Given the description of an element on the screen output the (x, y) to click on. 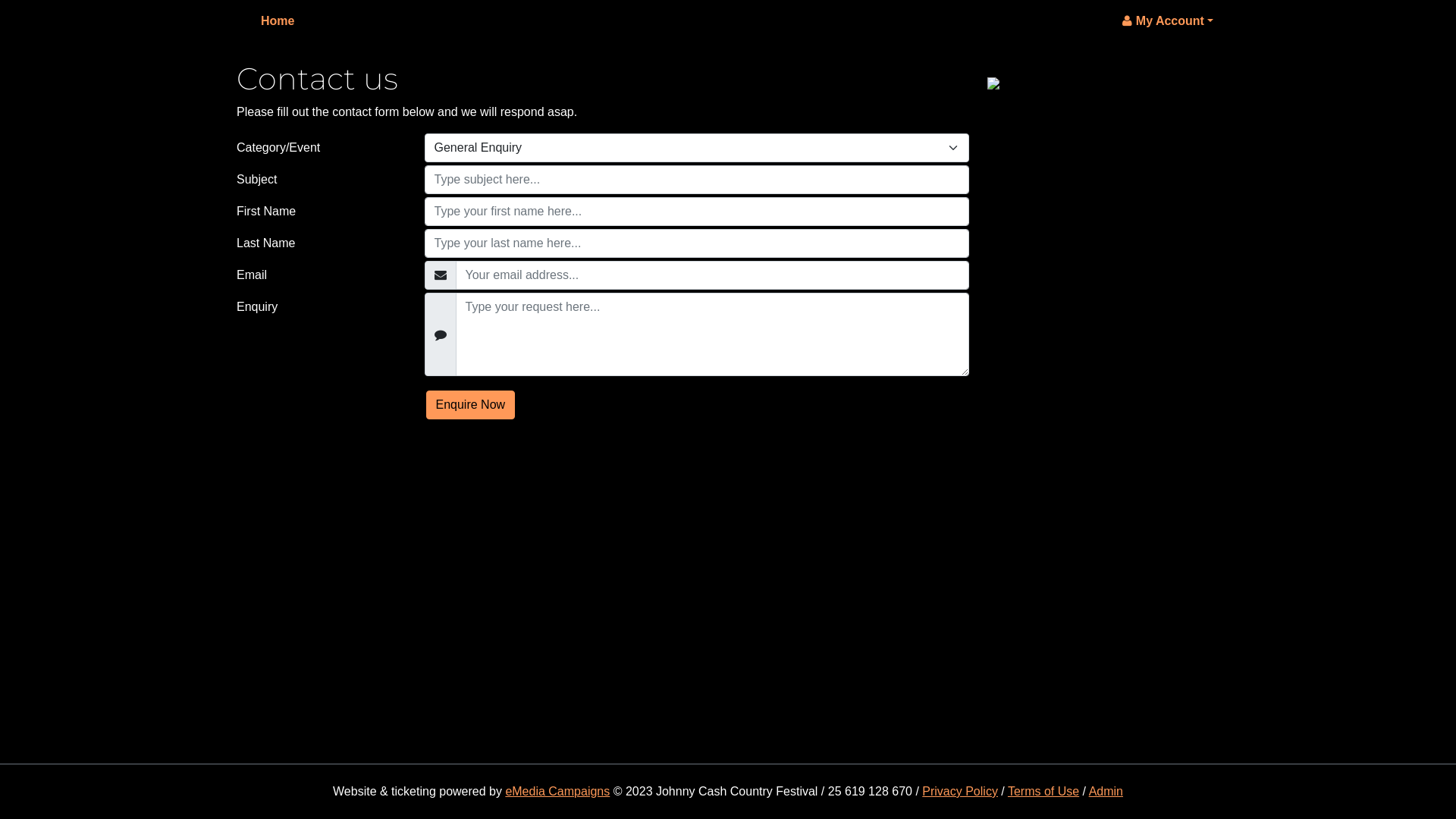
My Account Element type: text (1167, 21)
Terms of Use Element type: text (1043, 790)
Home Element type: text (277, 21)
Enquire Now Element type: text (470, 404)
eMedia Campaigns Element type: text (557, 790)
Privacy Policy Element type: text (959, 790)
Admin Element type: text (1105, 790)
